Given the description of an element on the screen output the (x, y) to click on. 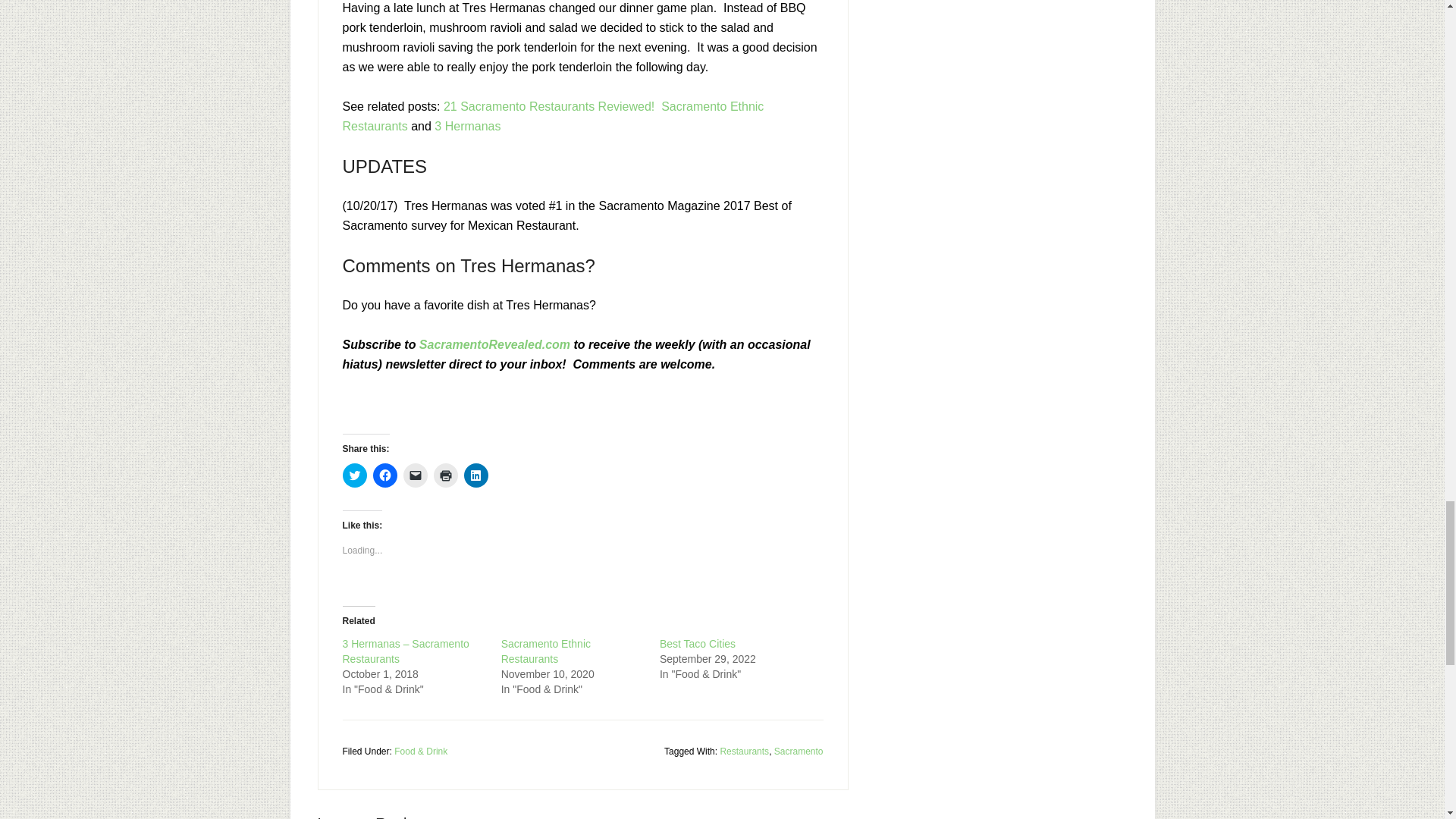
Click to share on Facebook (384, 475)
Sacramento Ethnic Restaurants (545, 651)
Best Taco Cities (697, 644)
Click to print (445, 475)
Sacramento Ethnic Restaurants (553, 115)
Sacramento (799, 751)
Best Taco Cities (697, 644)
Sacramento Ethnic Restaurants (545, 651)
Click to email a link to a friend (415, 475)
Click to share on Twitter (354, 475)
SacramentoRevealed.com (494, 344)
Restaurants (743, 751)
Click to share on LinkedIn (475, 475)
21 Sacramento Restaurants Reviewed! (548, 106)
3 Hermanas (466, 125)
